Given the description of an element on the screen output the (x, y) to click on. 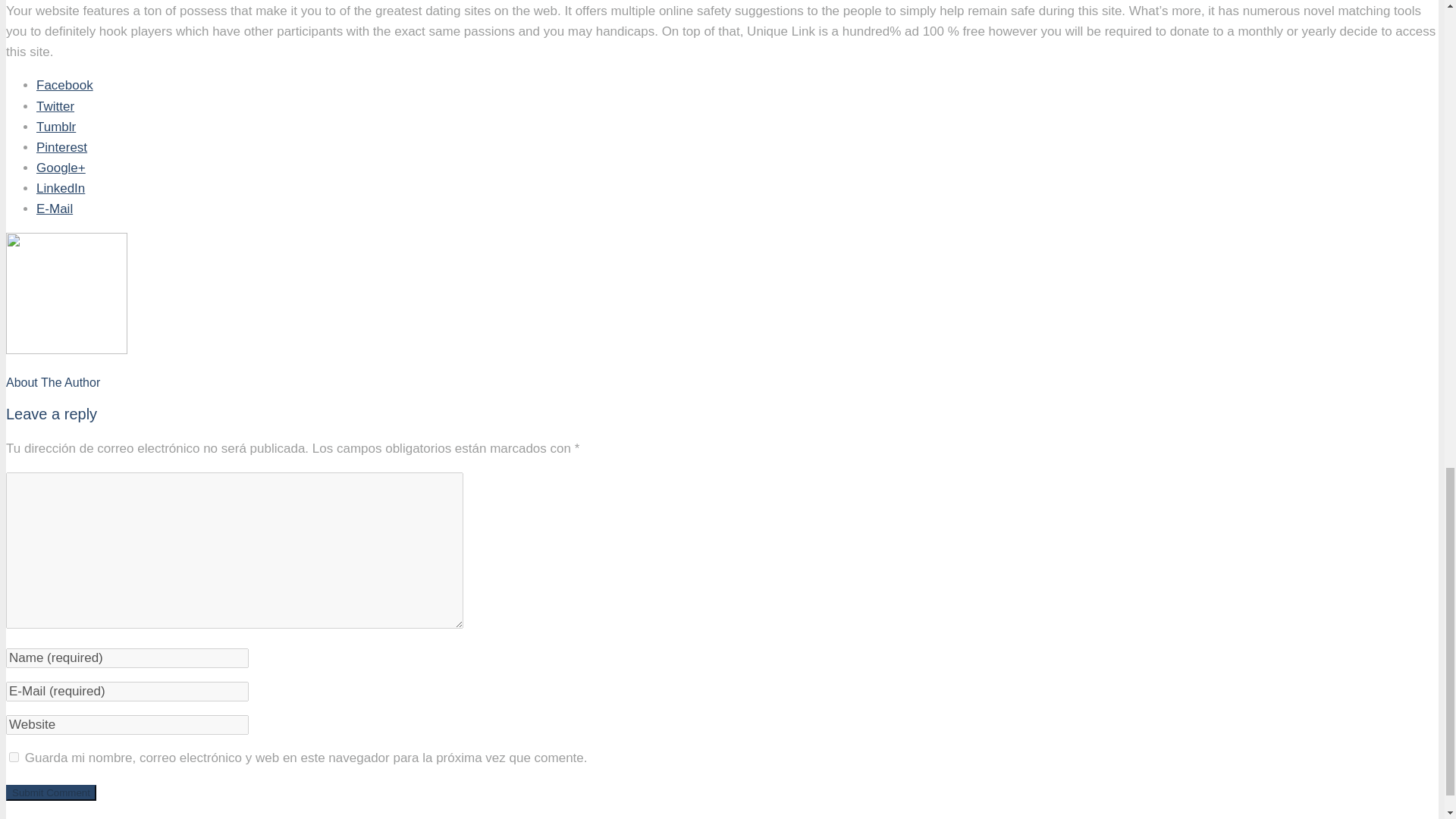
Share via E-Mail (54, 208)
Share via Tumblr (55, 126)
LinkedIn (60, 187)
Tumblr (55, 126)
Share via Twitter (55, 106)
Share via LinkedIn (60, 187)
Website (126, 724)
Pinterest (61, 147)
Twitter (55, 106)
Share via Pinterest (61, 147)
Share via Facebook (64, 84)
Facebook (64, 84)
yes (13, 757)
Submit Comment (50, 791)
Submit Comment (50, 791)
